Given the description of an element on the screen output the (x, y) to click on. 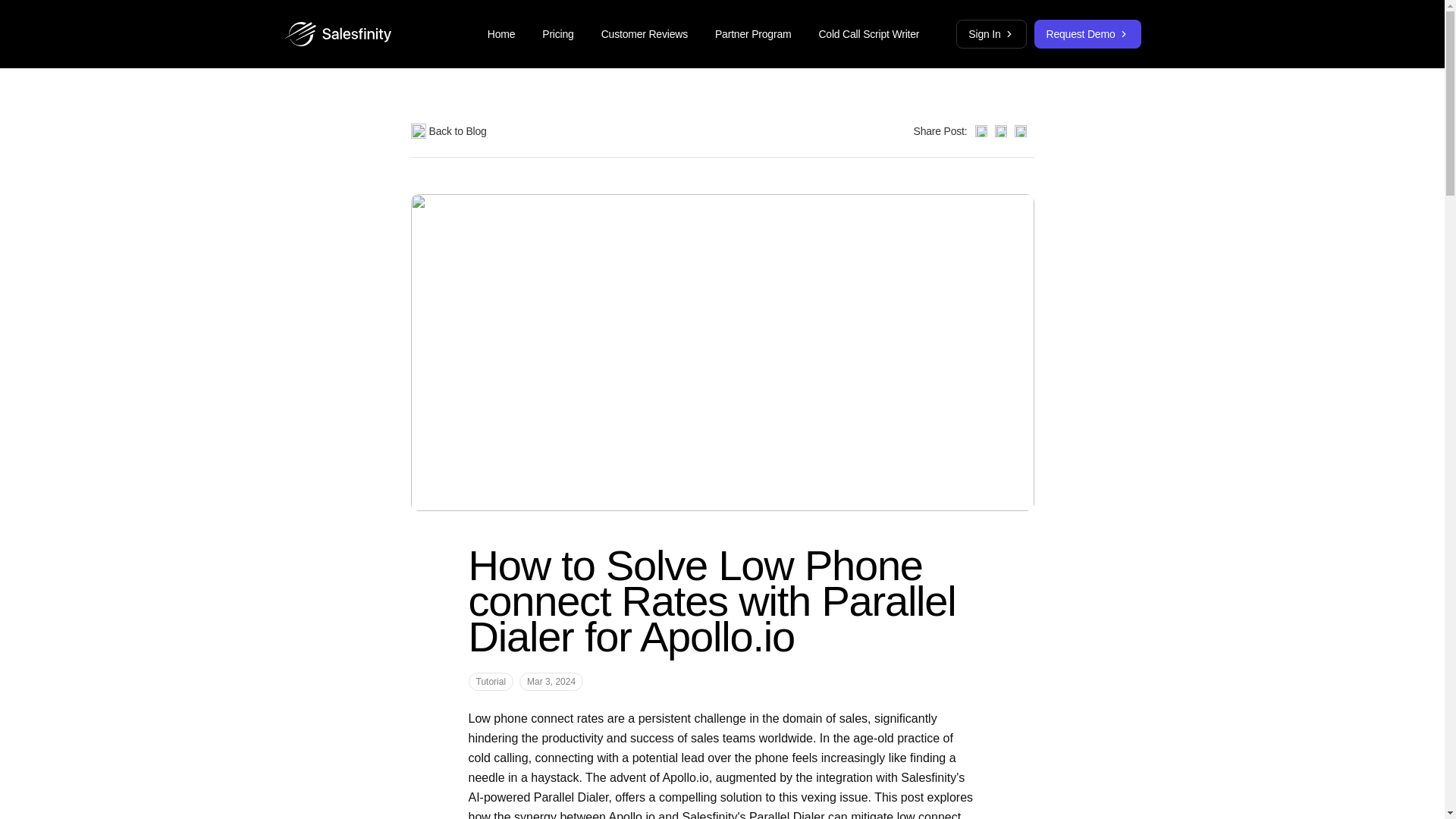
Customer Reviews (644, 33)
Back to Blog (448, 131)
Home (501, 33)
Pricing (557, 33)
Sign In (991, 33)
Cold Call Script Writer (868, 33)
Partner Program (753, 33)
Request Demo (1087, 33)
